Given the description of an element on the screen output the (x, y) to click on. 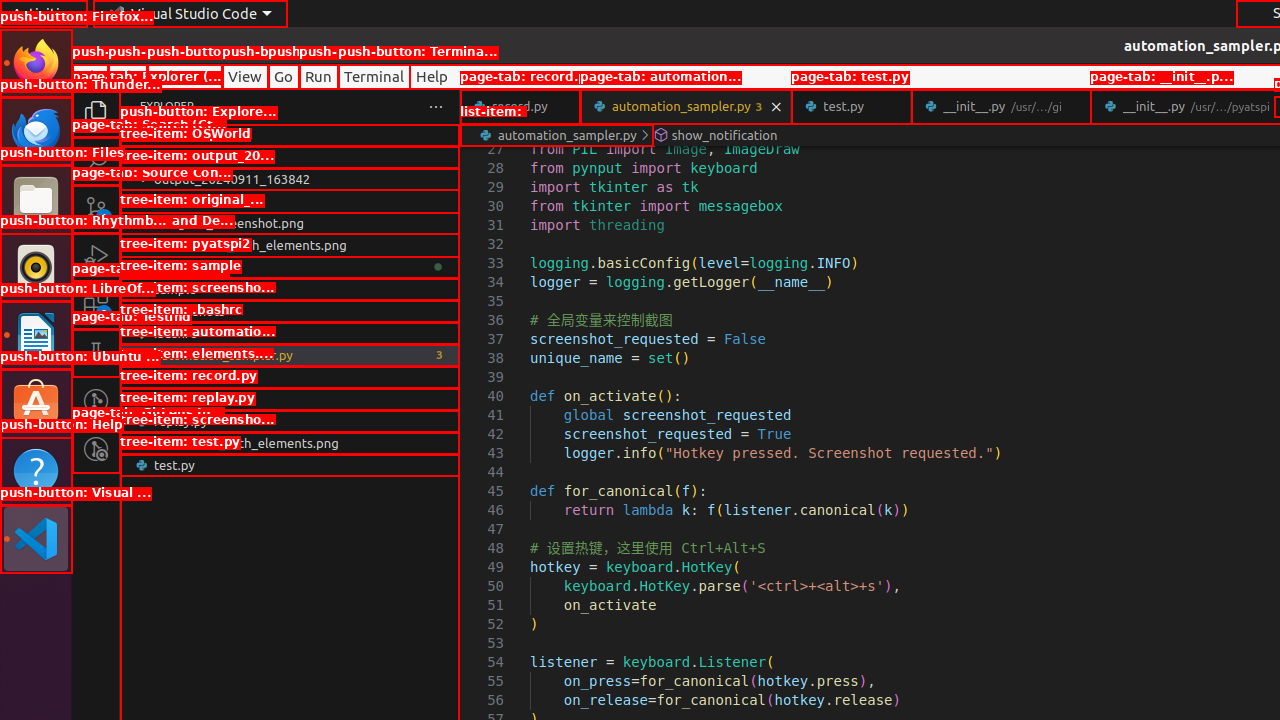
Explorer (Ctrl+Shift+E) Element type: page-tab (96, 113)
elements.json Element type: tree-item (289, 377)
replay.py Element type: tree-item (289, 421)
